Given the description of an element on the screen output the (x, y) to click on. 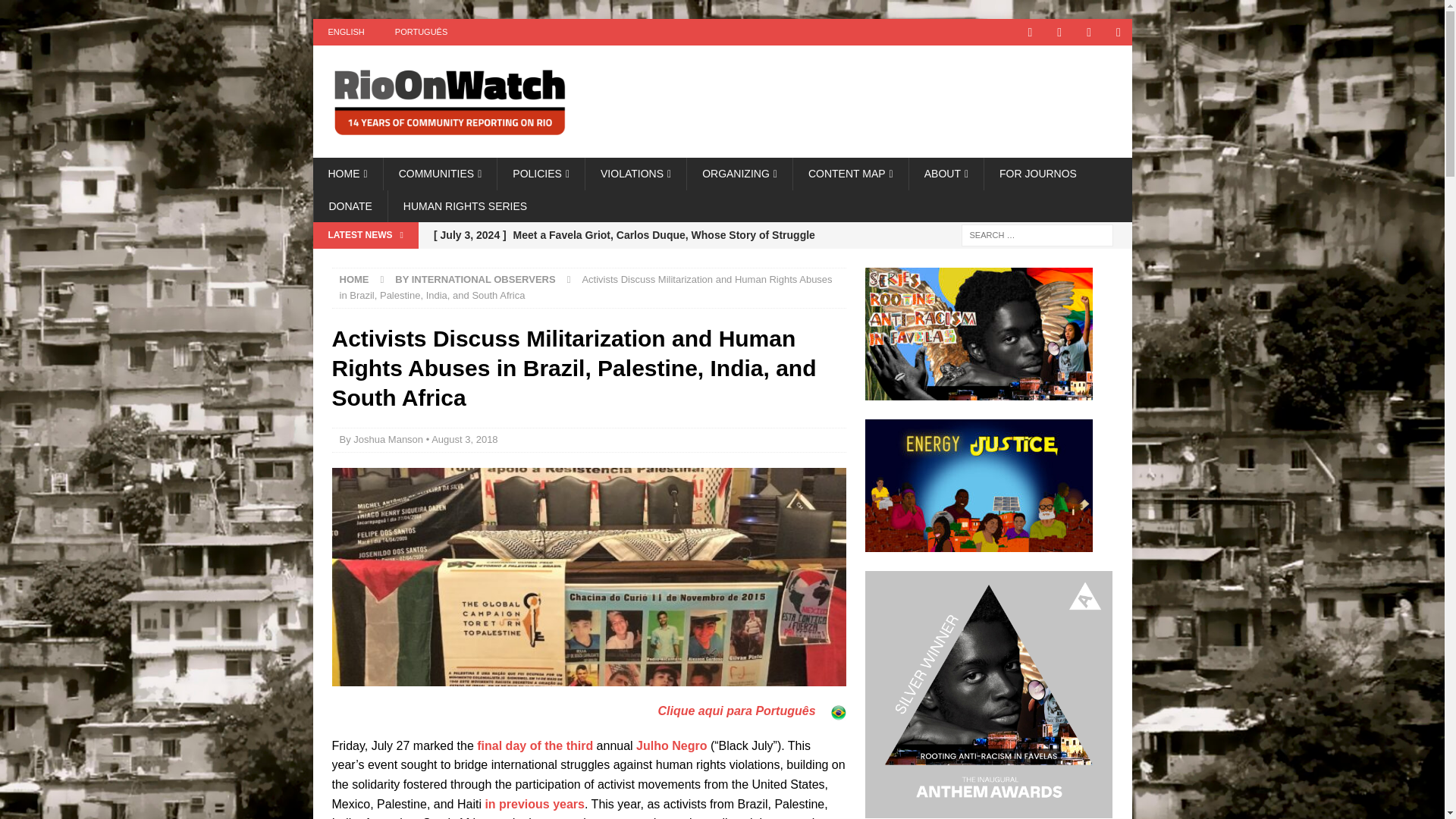
Banners at Julho Negro International Perspectives Panel (588, 577)
ENGLISH (345, 31)
